Given the description of an element on the screen output the (x, y) to click on. 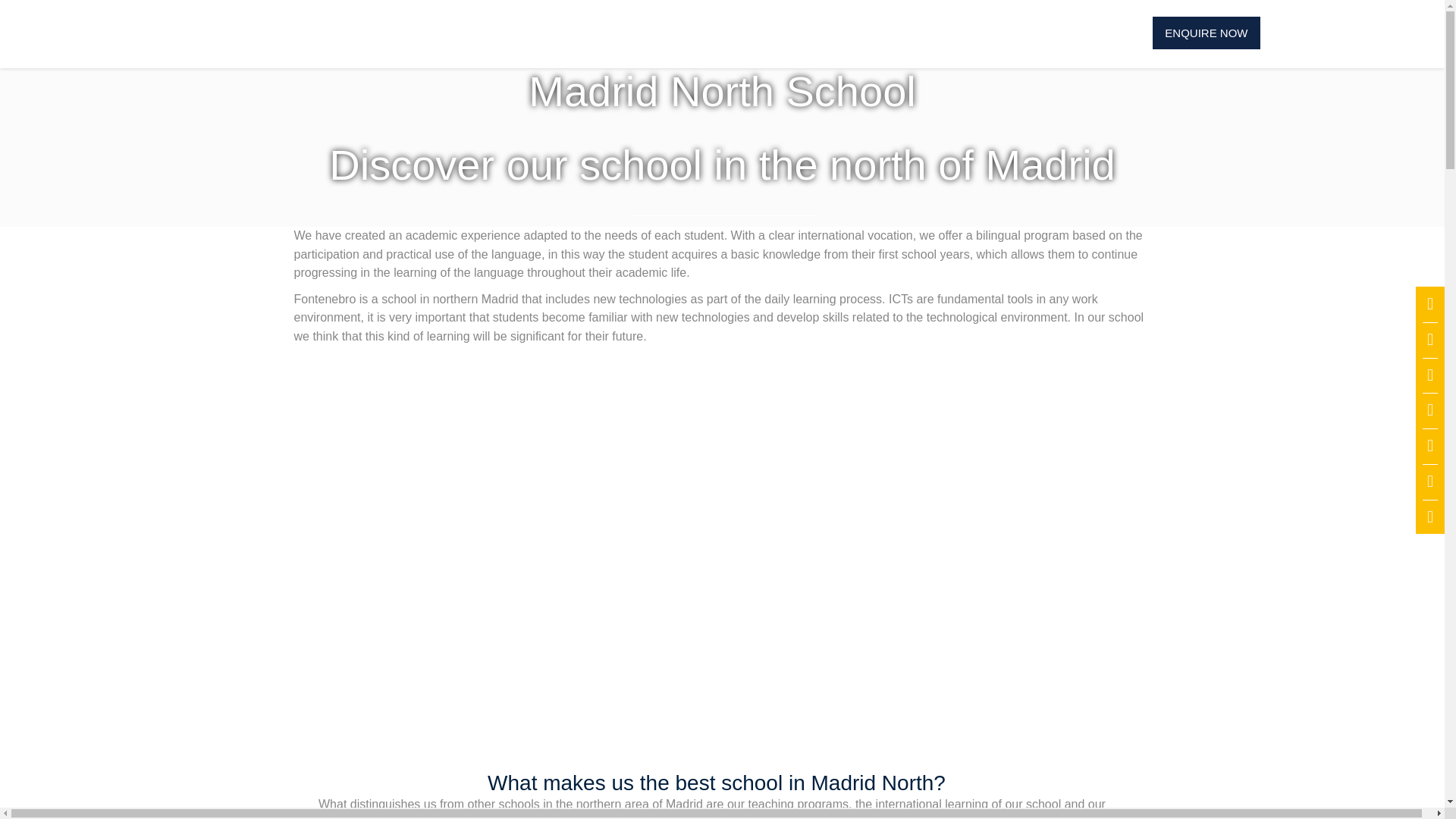
More information (1205, 32)
OUR SCHOOL (427, 31)
CONTACT (1027, 31)
SCHOOL LIFE (773, 31)
LEARNING (662, 31)
ENQUIRE NOW (1205, 32)
ADMISSIONS (551, 31)
